Given the description of an element on the screen output the (x, y) to click on. 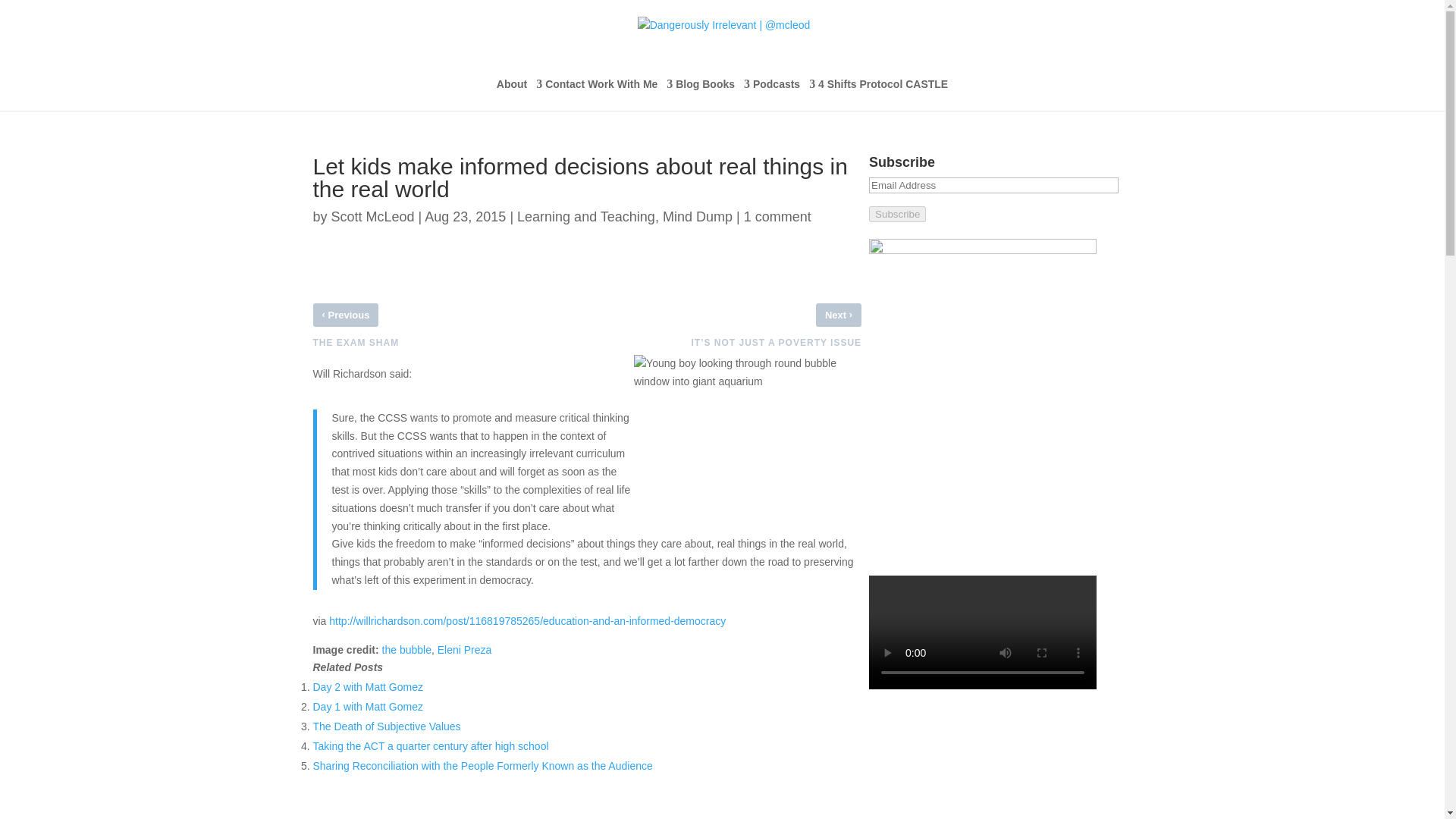
Learning and Teaching (585, 216)
Day 1 with Matt Gomez (368, 706)
Day 1 with Matt Gomez (368, 706)
Scott McLeod (372, 216)
Day 2 with Matt Gomez (368, 686)
About (518, 94)
thebubble.jpg (747, 430)
The Death of Subjective Values (386, 726)
4 Shifts Protocol (860, 94)
